Given the description of an element on the screen output the (x, y) to click on. 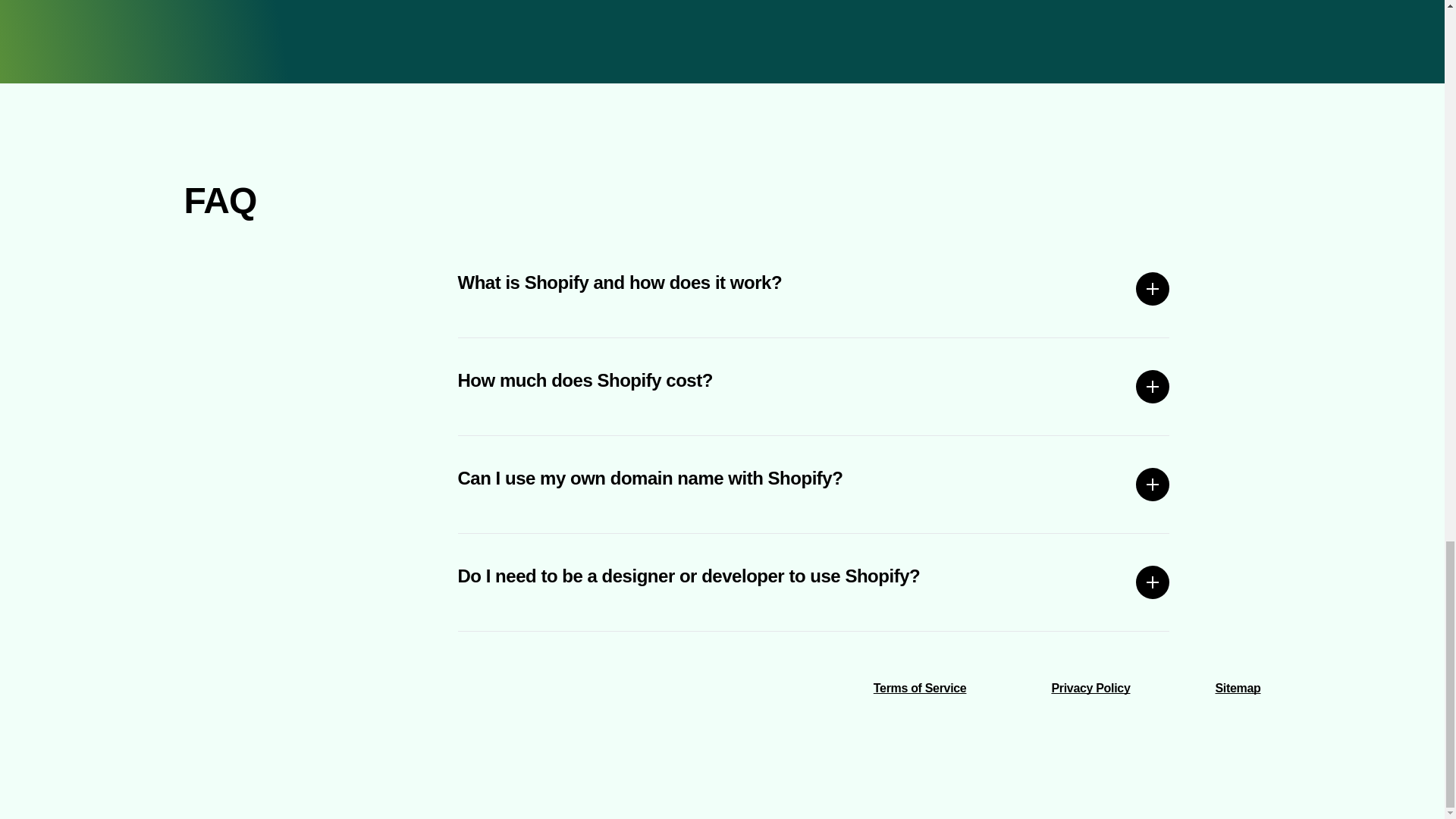
Sitemap (1237, 687)
What is Shopify and how does it work? (814, 289)
Terms of Service (919, 687)
Privacy Policy (1090, 687)
Can I use my own domain name with Shopify? (814, 484)
How much does Shopify cost? (814, 386)
Do I need to be a designer or developer to use Shopify? (814, 582)
